Given the description of an element on the screen output the (x, y) to click on. 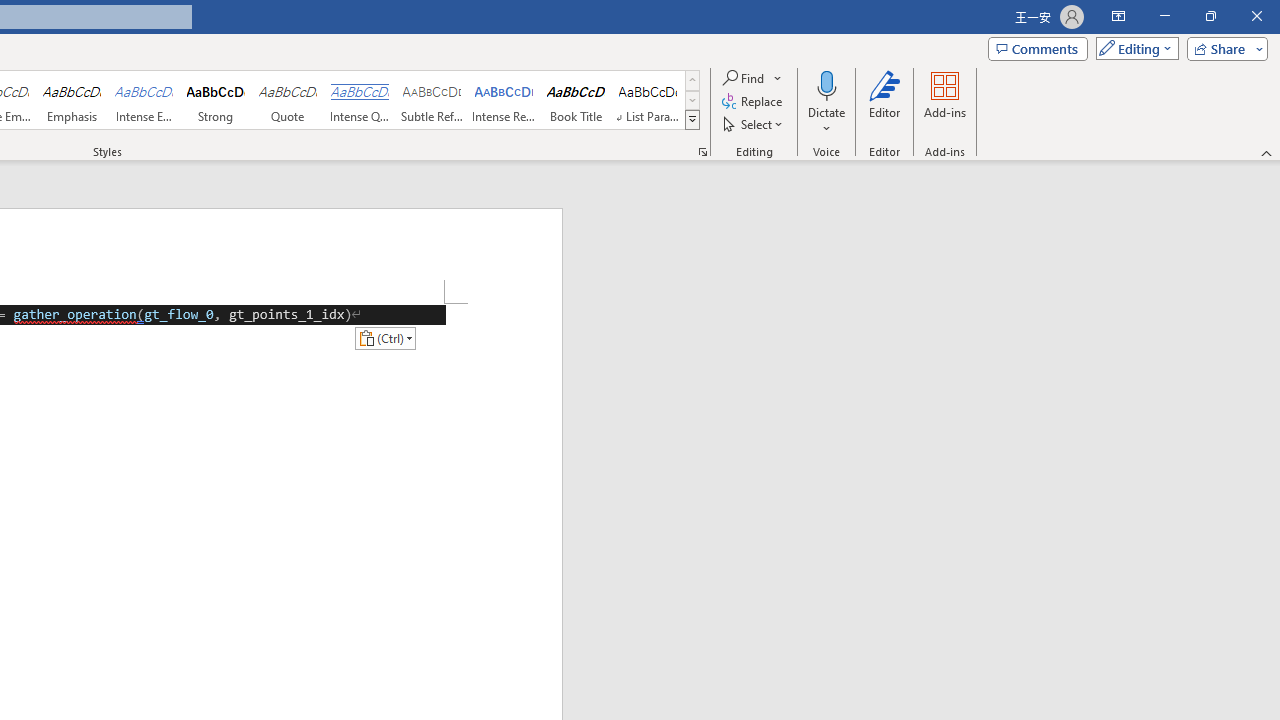
Action: Paste alternatives (385, 337)
Intense Reference (504, 100)
Emphasis (71, 100)
